Given the description of an element on the screen output the (x, y) to click on. 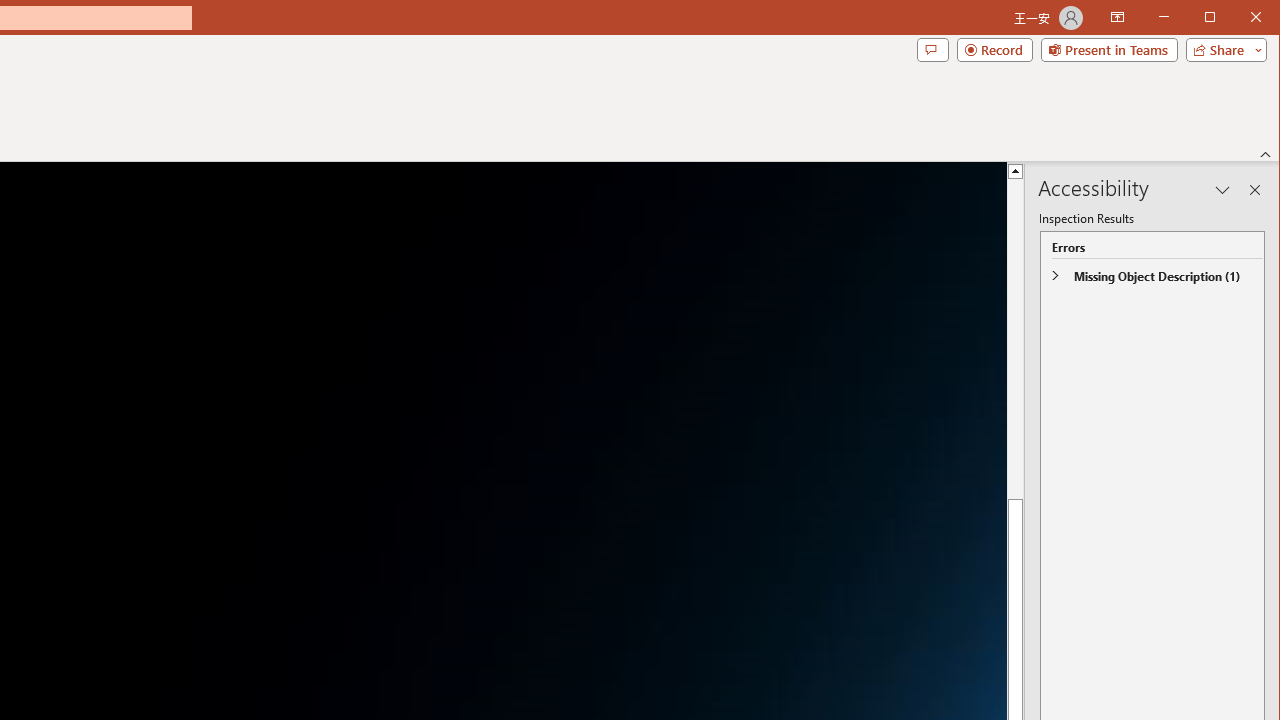
Page up (1015, 311)
Maximize (1238, 18)
